Given the description of an element on the screen output the (x, y) to click on. 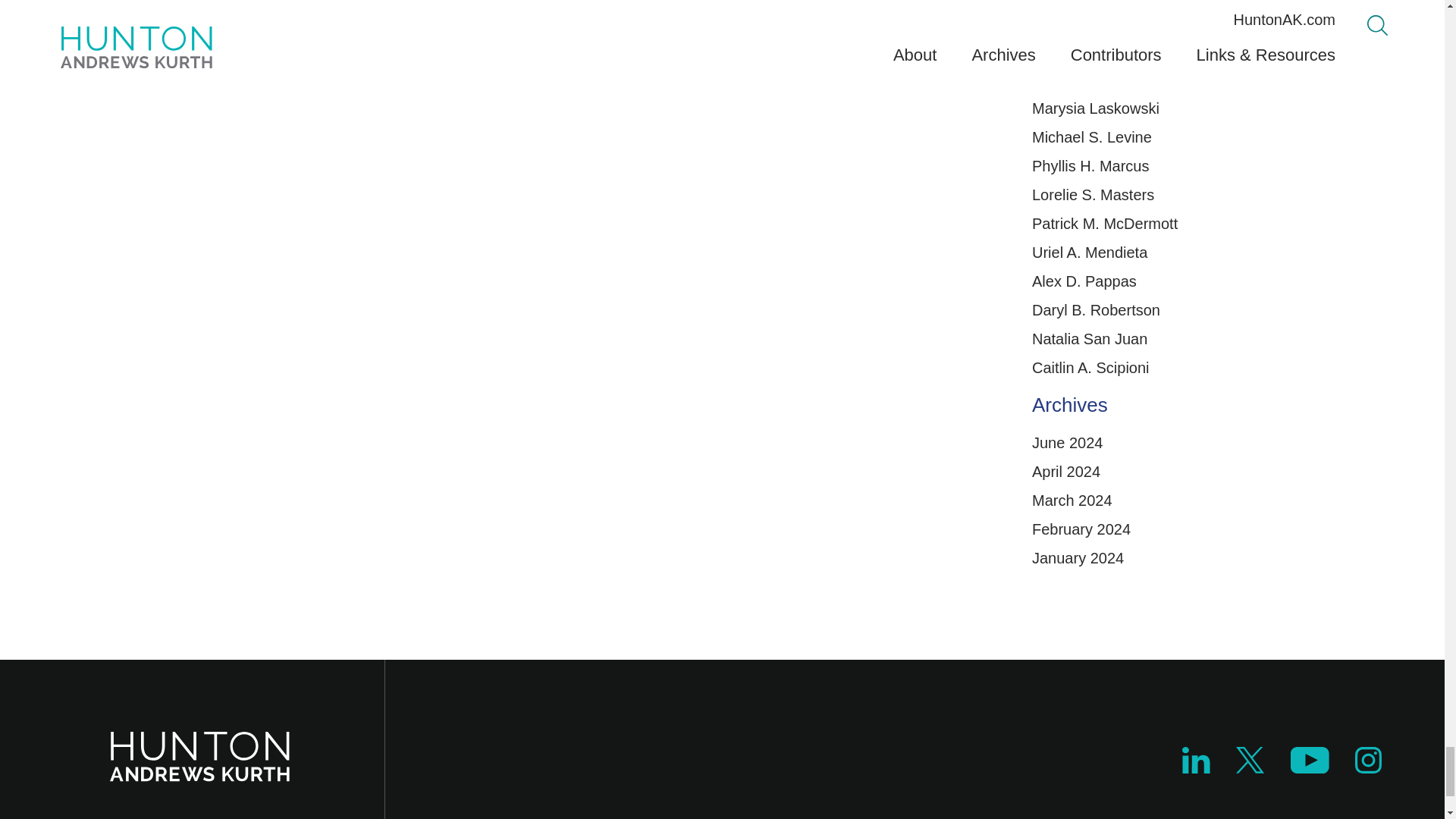
Youtube (1309, 768)
Instagram (1369, 768)
Linkedin (1195, 759)
Linkedin (1195, 768)
Instagram (1368, 759)
Youtube (1309, 759)
X (1250, 768)
